Given the description of an element on the screen output the (x, y) to click on. 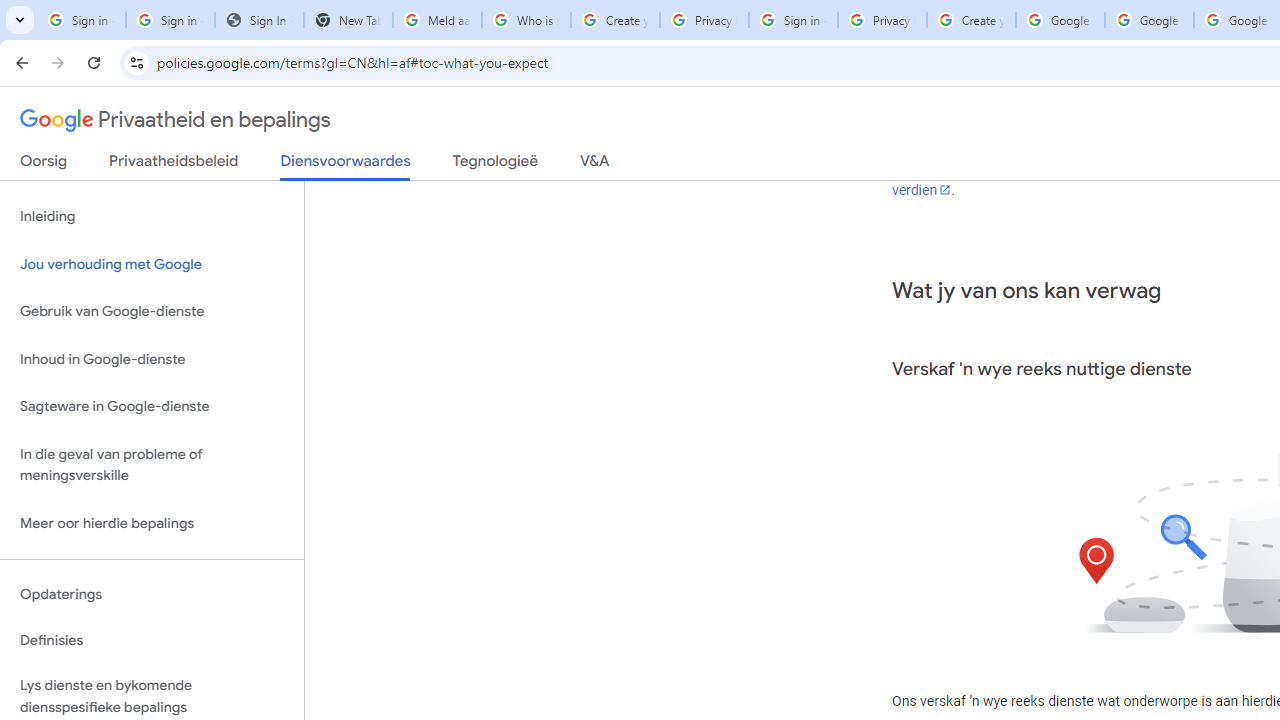
Jou verhouding met Google (152, 263)
Sign in - Google Accounts (81, 20)
Sign in - Google Accounts (793, 20)
Gebruik van Google-dienste (152, 312)
geaffilieerdes (1115, 142)
Who is my administrator? - Google Account Help (526, 20)
New Tab (347, 20)
Meer oor hierdie bepalings (152, 522)
Inhoud in Google-dienste (152, 358)
